Given the description of an element on the screen output the (x, y) to click on. 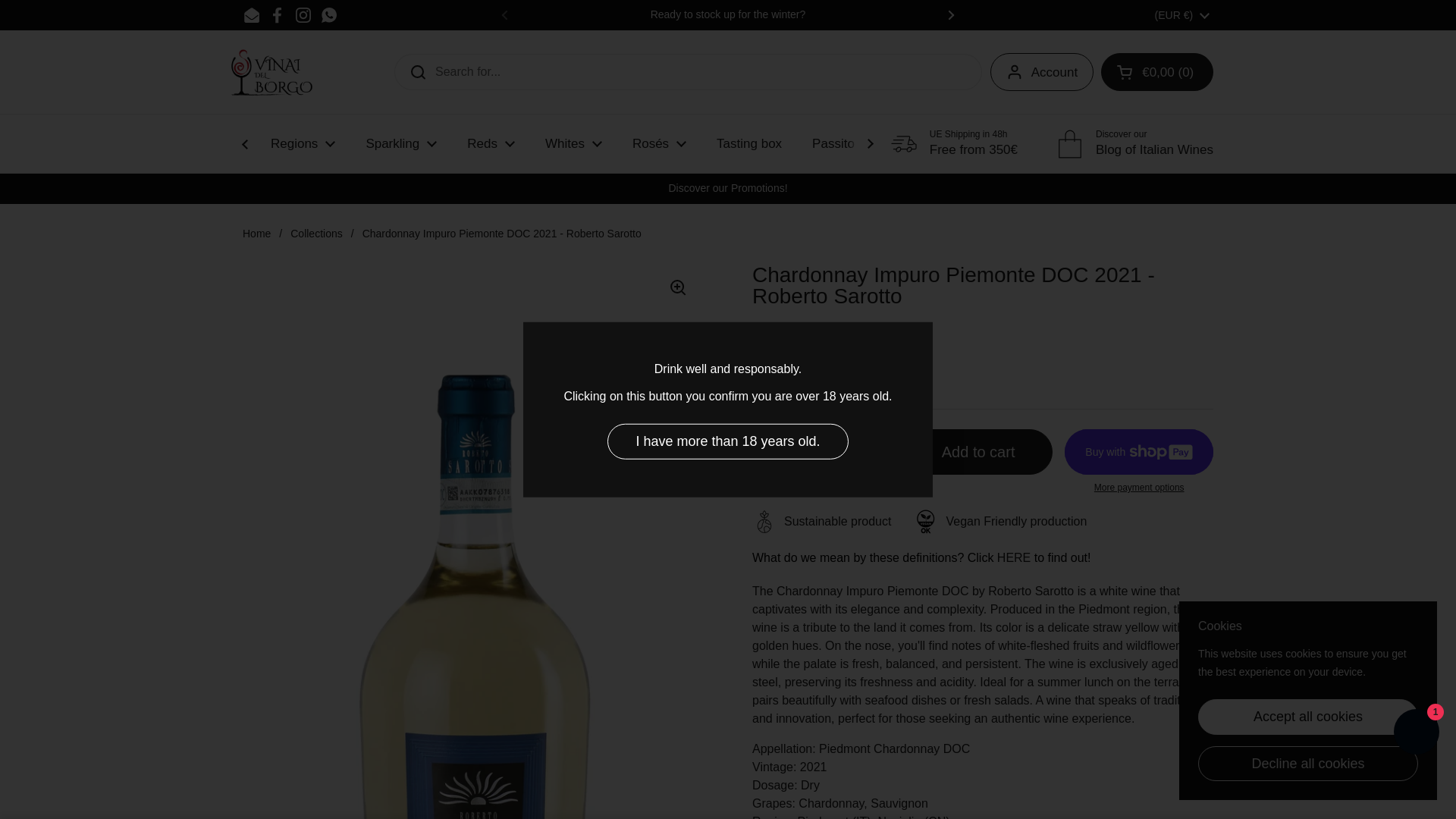
WhatsApp (328, 14)
Instagram (303, 14)
Account (1041, 71)
Regions (303, 143)
1 (821, 452)
Facebook (276, 14)
Email (251, 14)
Ready to stock up for the winter? (728, 14)
Discover our Best Sellers! (1173, 14)
Open cart (1156, 71)
Regions (303, 143)
Sparkling (400, 143)
Vinai del Borgo (256, 62)
